Given the description of an element on the screen output the (x, y) to click on. 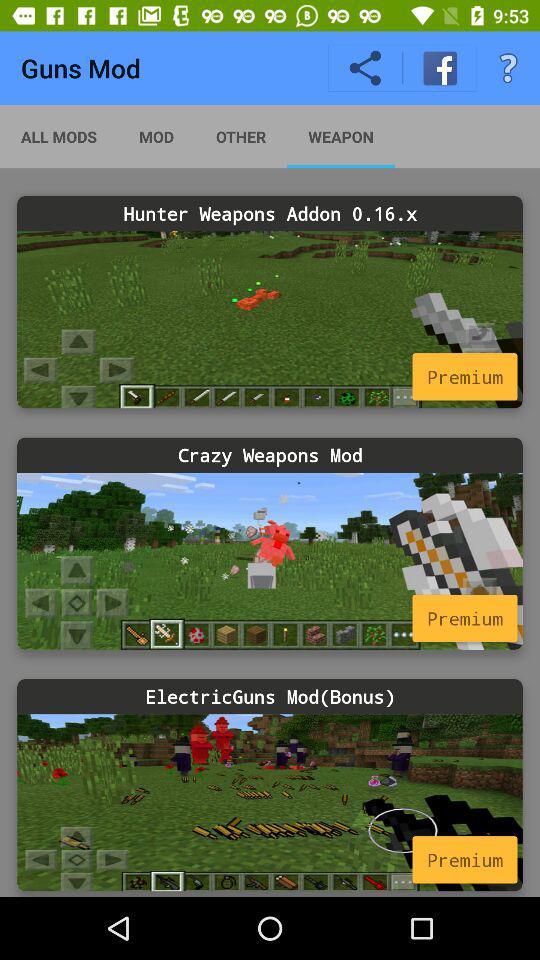
press the item next to mod icon (240, 136)
